Given the description of an element on the screen output the (x, y) to click on. 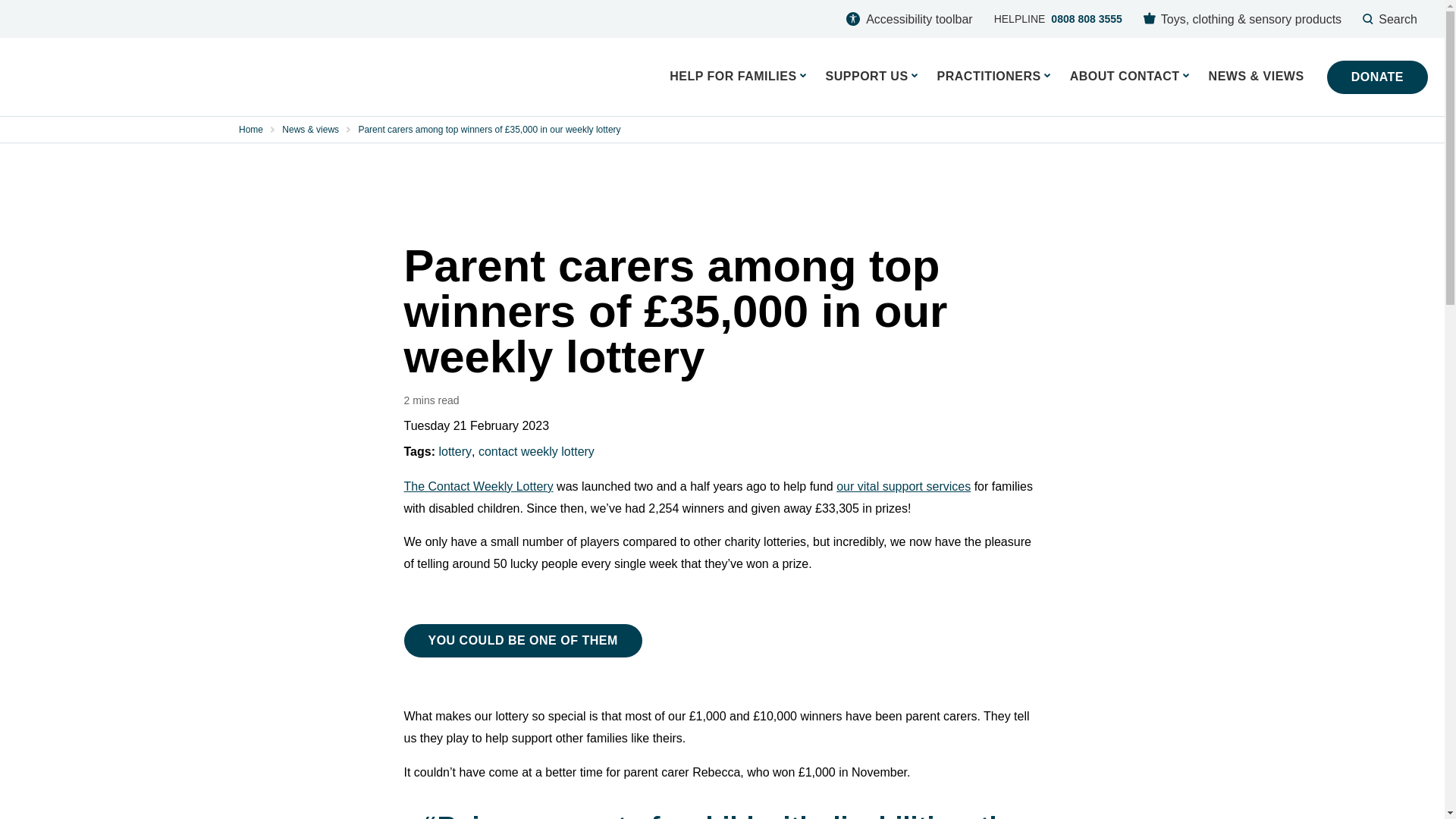
Search (1058, 18)
PRACTITIONERS (1390, 18)
Contact Logo (993, 76)
SUPPORT US (182, 76)
DONATE (871, 76)
Go to the homepage (1377, 77)
Visit our Fledglings shop (182, 76)
ABOUT CONTACT (1242, 18)
HELP FOR FAMILIES (1128, 76)
